Given the description of an element on the screen output the (x, y) to click on. 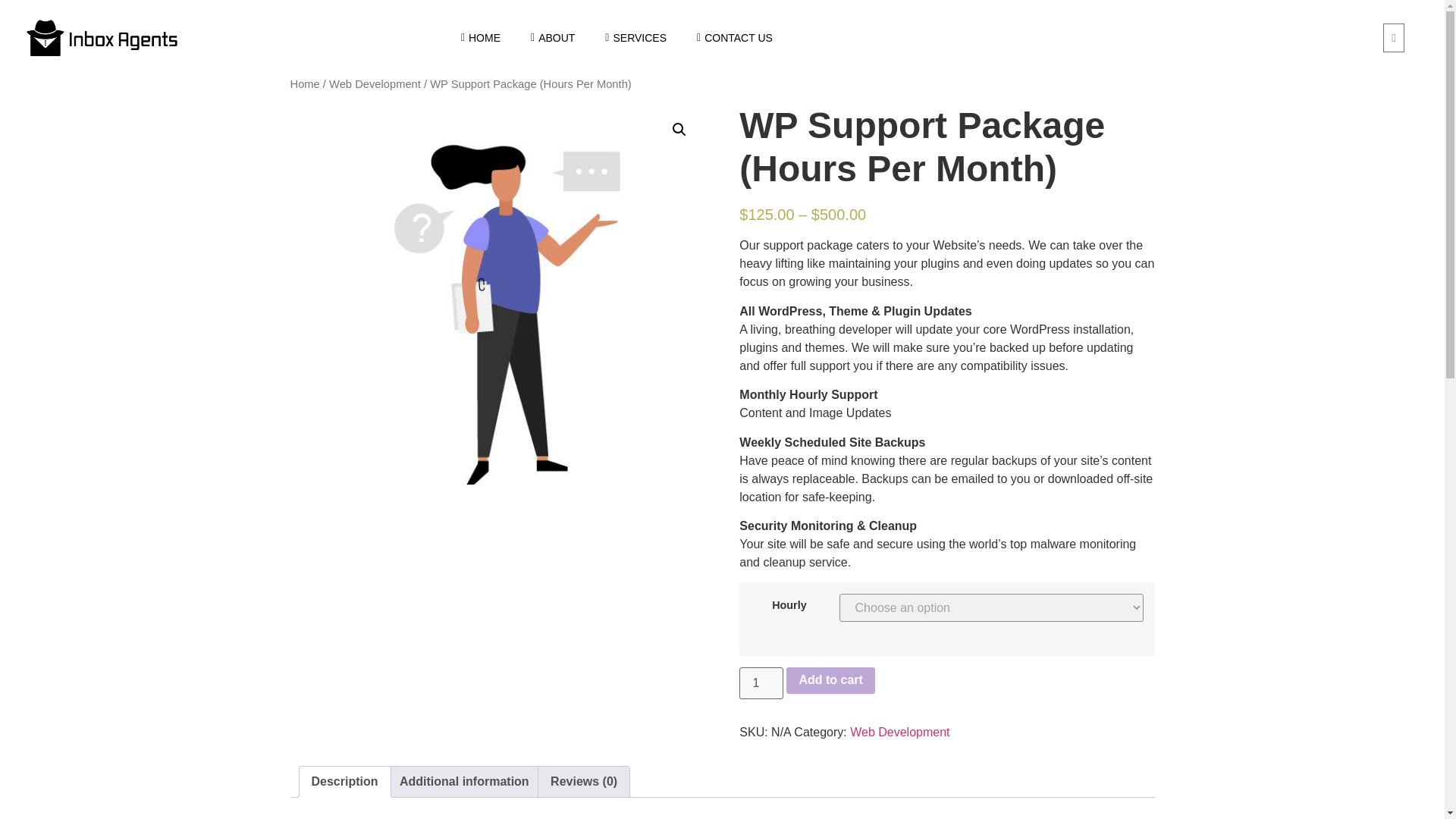
SERVICES (635, 2)
1 (761, 683)
CONTACT US (734, 20)
